Given the description of an element on the screen output the (x, y) to click on. 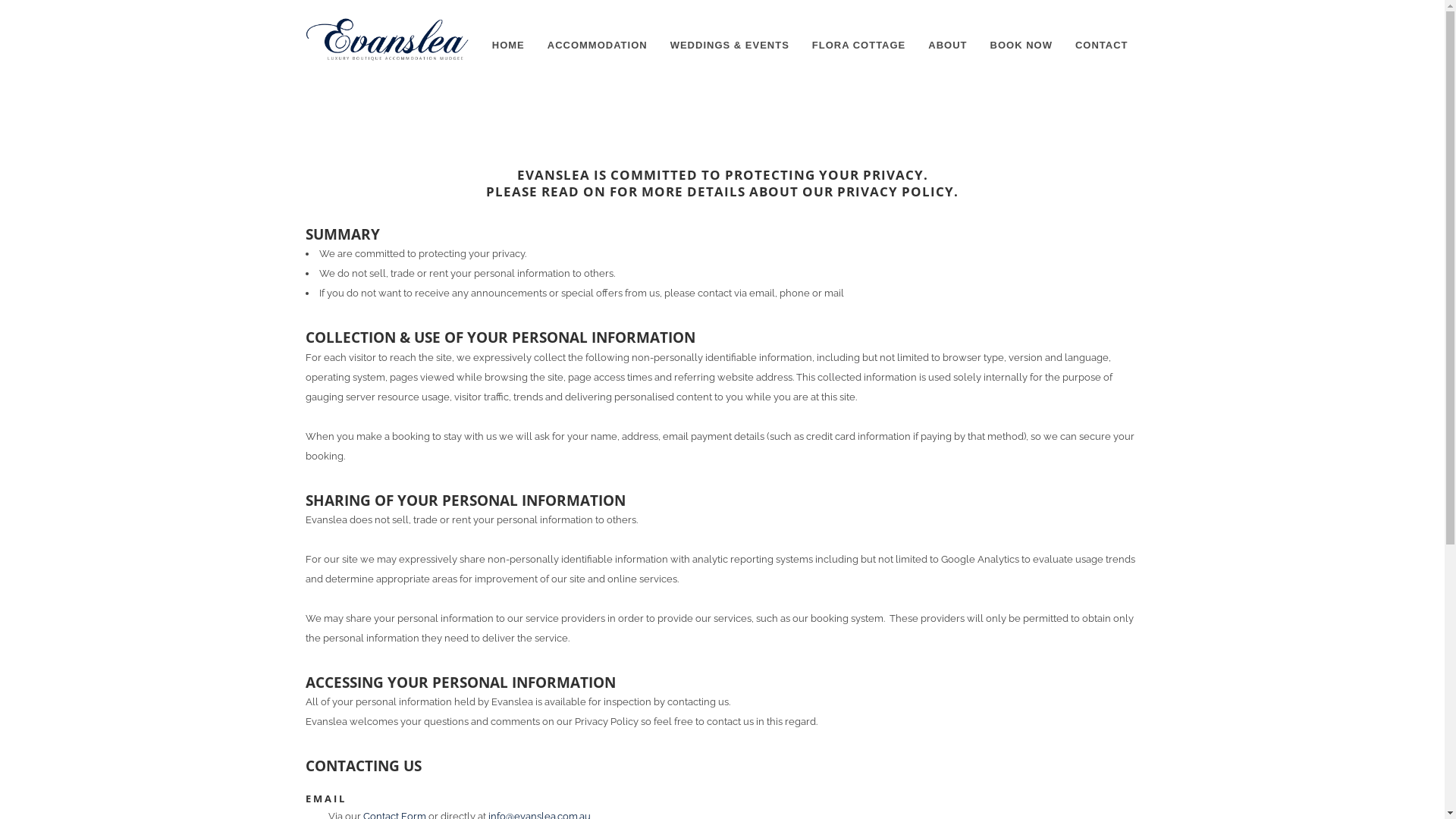
ABOUT Element type: text (947, 45)
WEDDINGS & EVENTS Element type: text (729, 45)
FLORA COTTAGE Element type: text (858, 45)
ACCOMMODATION Element type: text (597, 45)
BOOK NOW Element type: text (1021, 45)
CONTACT Element type: text (1101, 45)
HOME Element type: text (508, 45)
